Given the description of an element on the screen output the (x, y) to click on. 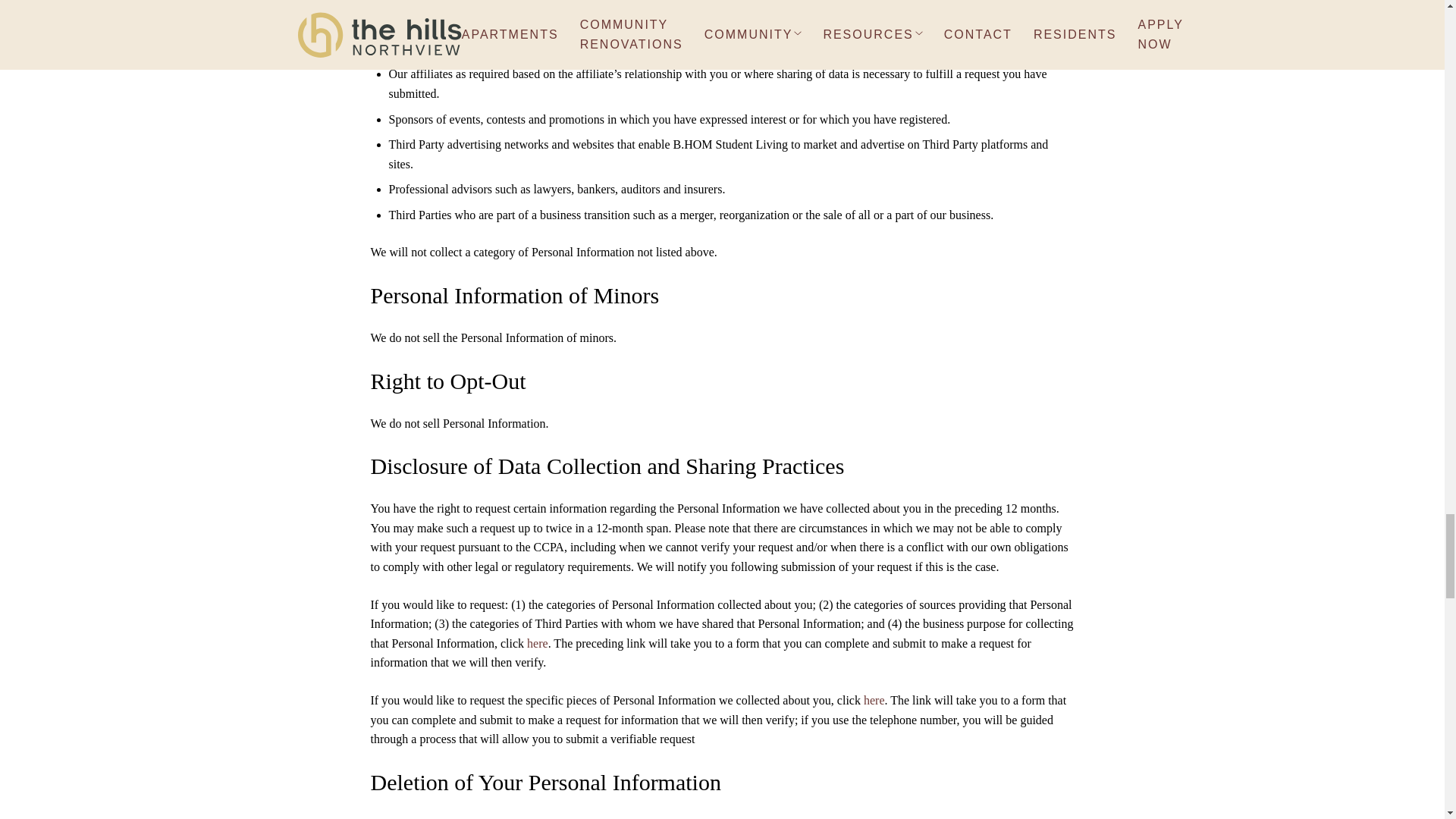
here (874, 699)
here (537, 643)
